Given the description of an element on the screen output the (x, y) to click on. 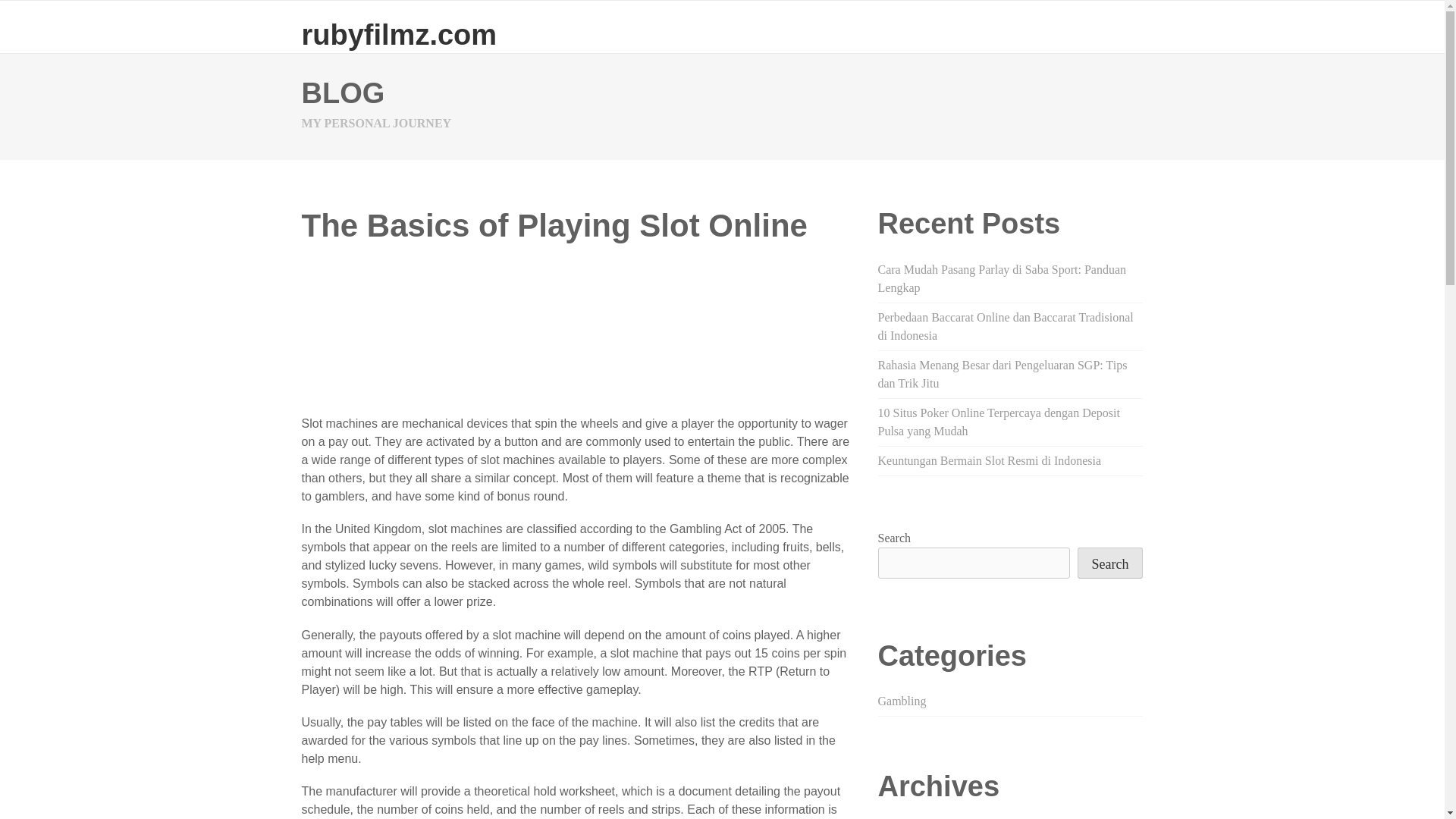
rubyfilmz.com (399, 34)
Keuntungan Bermain Slot Resmi di Indonesia (989, 460)
Cara Mudah Pasang Parlay di Saba Sport: Panduan Lengkap (1001, 278)
Search (1109, 562)
Gambling (901, 700)
